Given the description of an element on the screen output the (x, y) to click on. 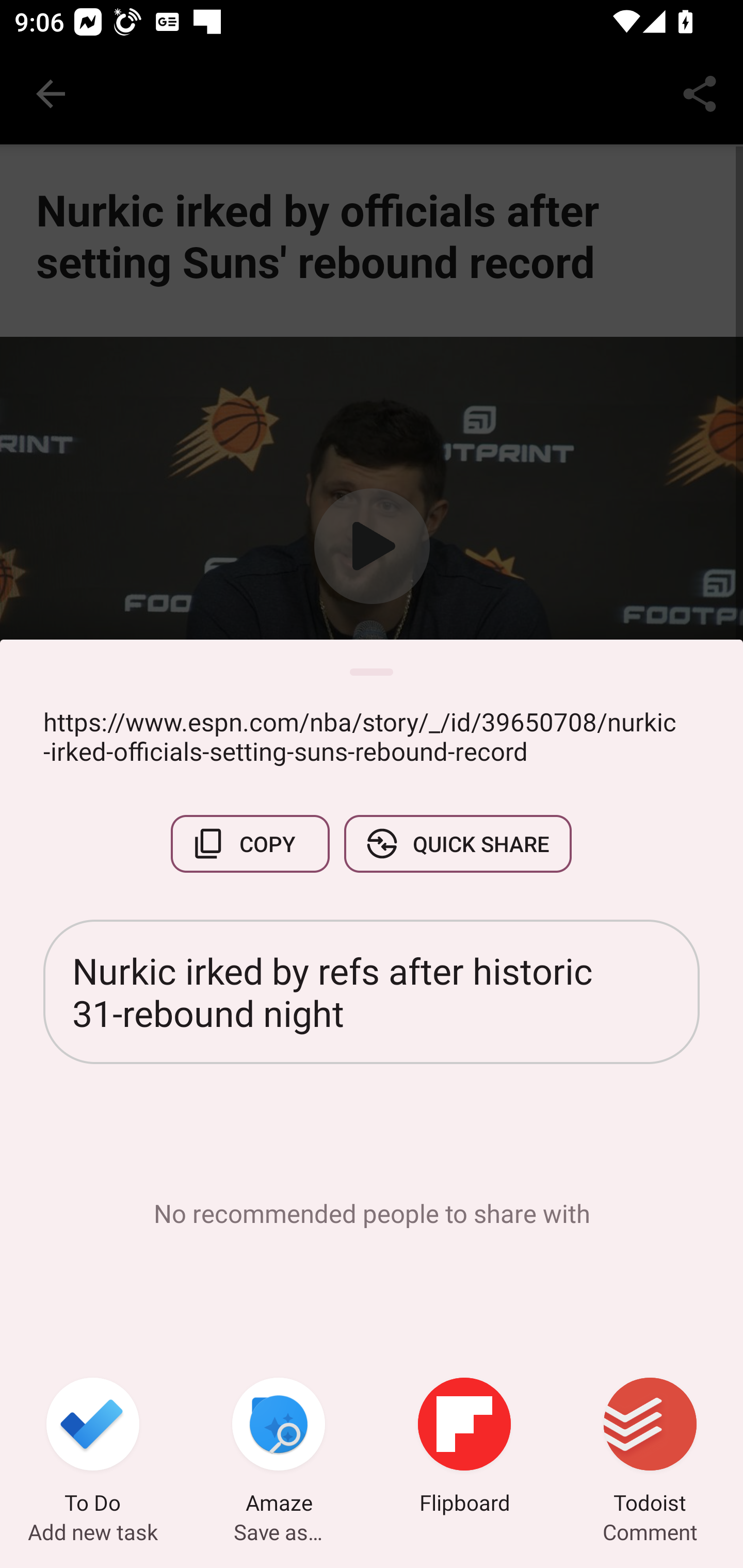
COPY (249, 844)
QUICK SHARE (457, 844)
To Do Add new task (92, 1448)
Amaze Save as… (278, 1448)
Flipboard (464, 1448)
Todoist Comment (650, 1448)
